Given the description of an element on the screen output the (x, y) to click on. 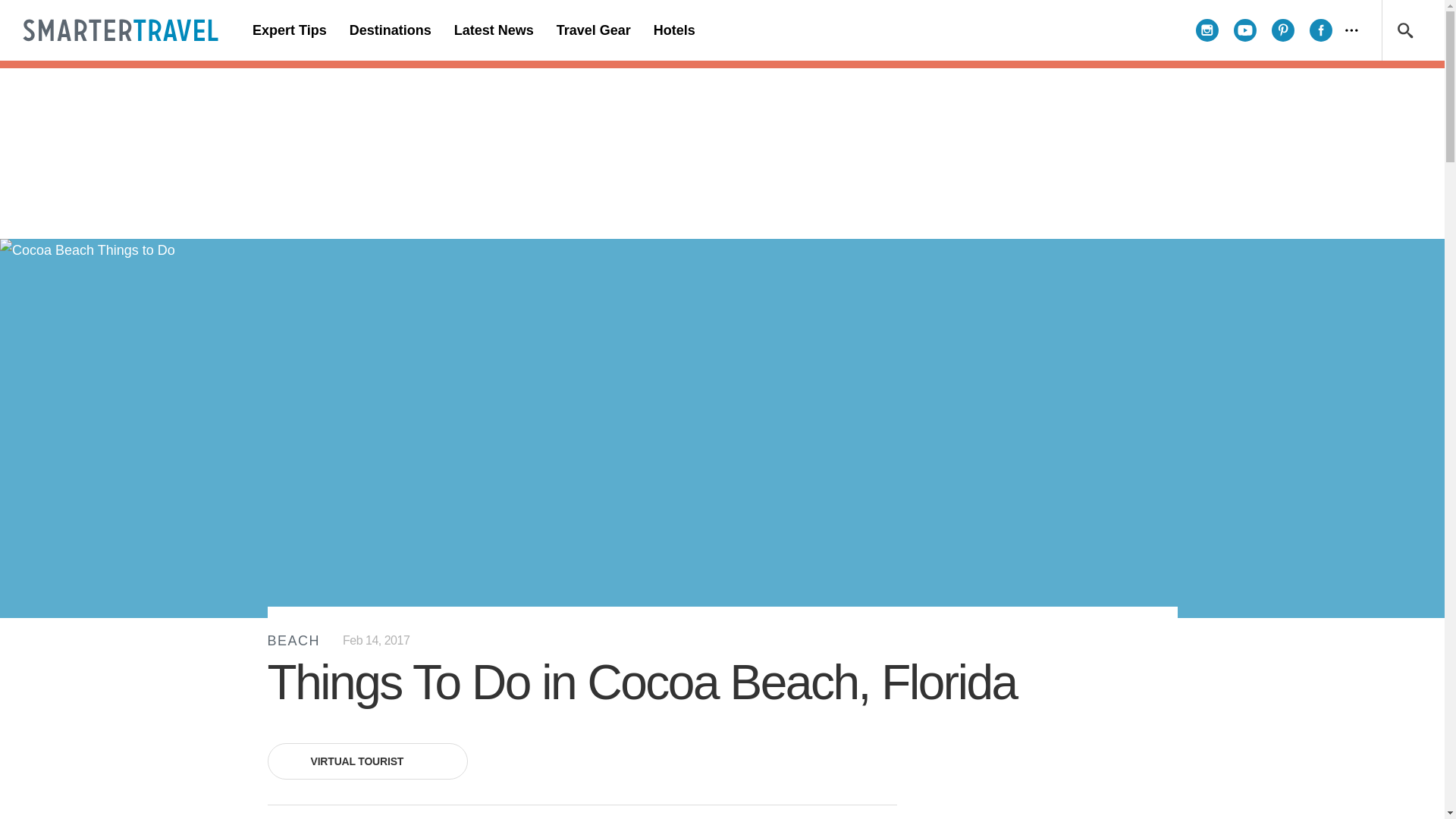
Expert Tips (289, 30)
Travel Gear (593, 30)
Latest News (493, 30)
Hotels (674, 30)
Destinations (389, 30)
